Given the description of an element on the screen output the (x, y) to click on. 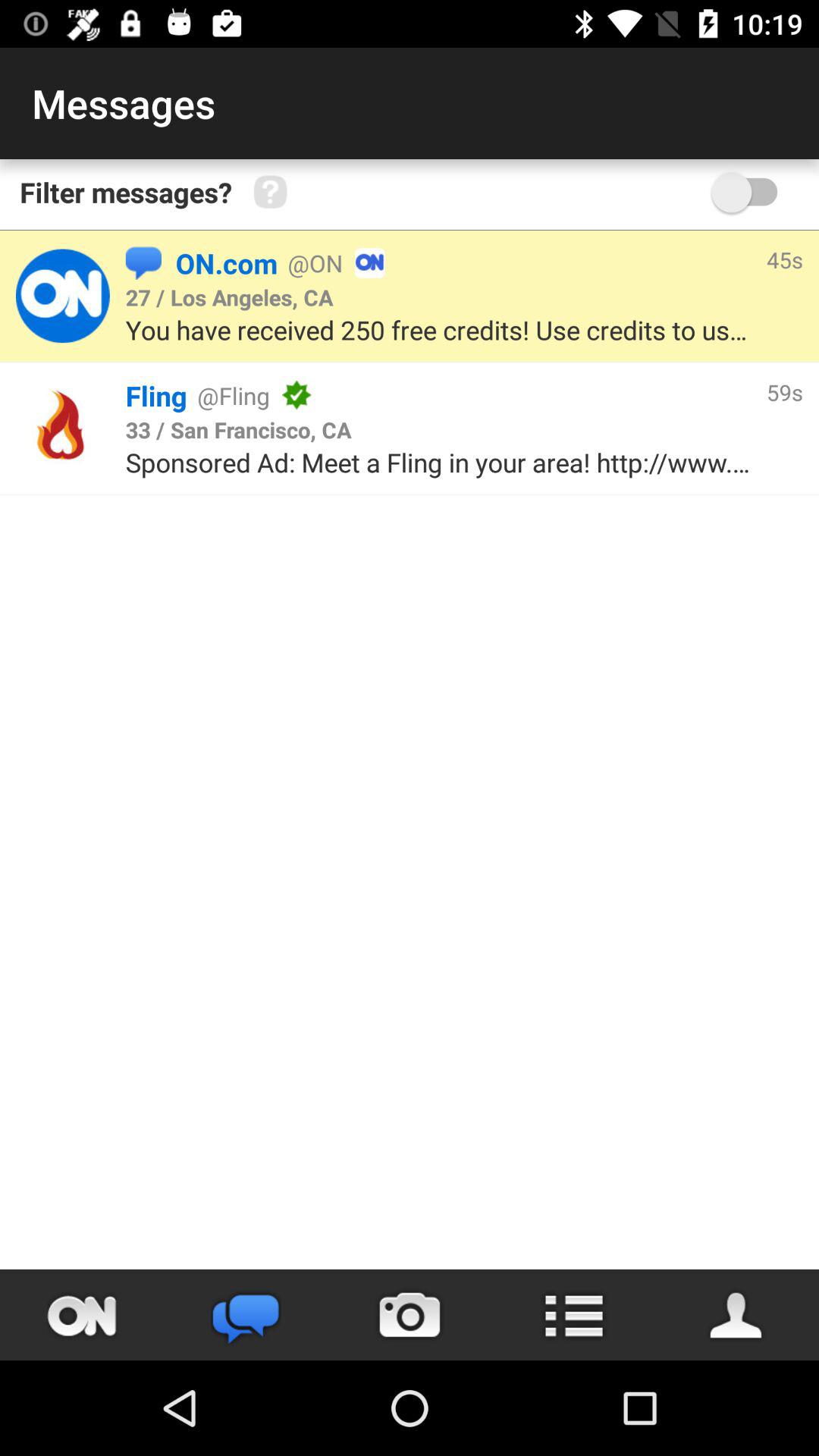
show list (573, 1315)
